Given the description of an element on the screen output the (x, y) to click on. 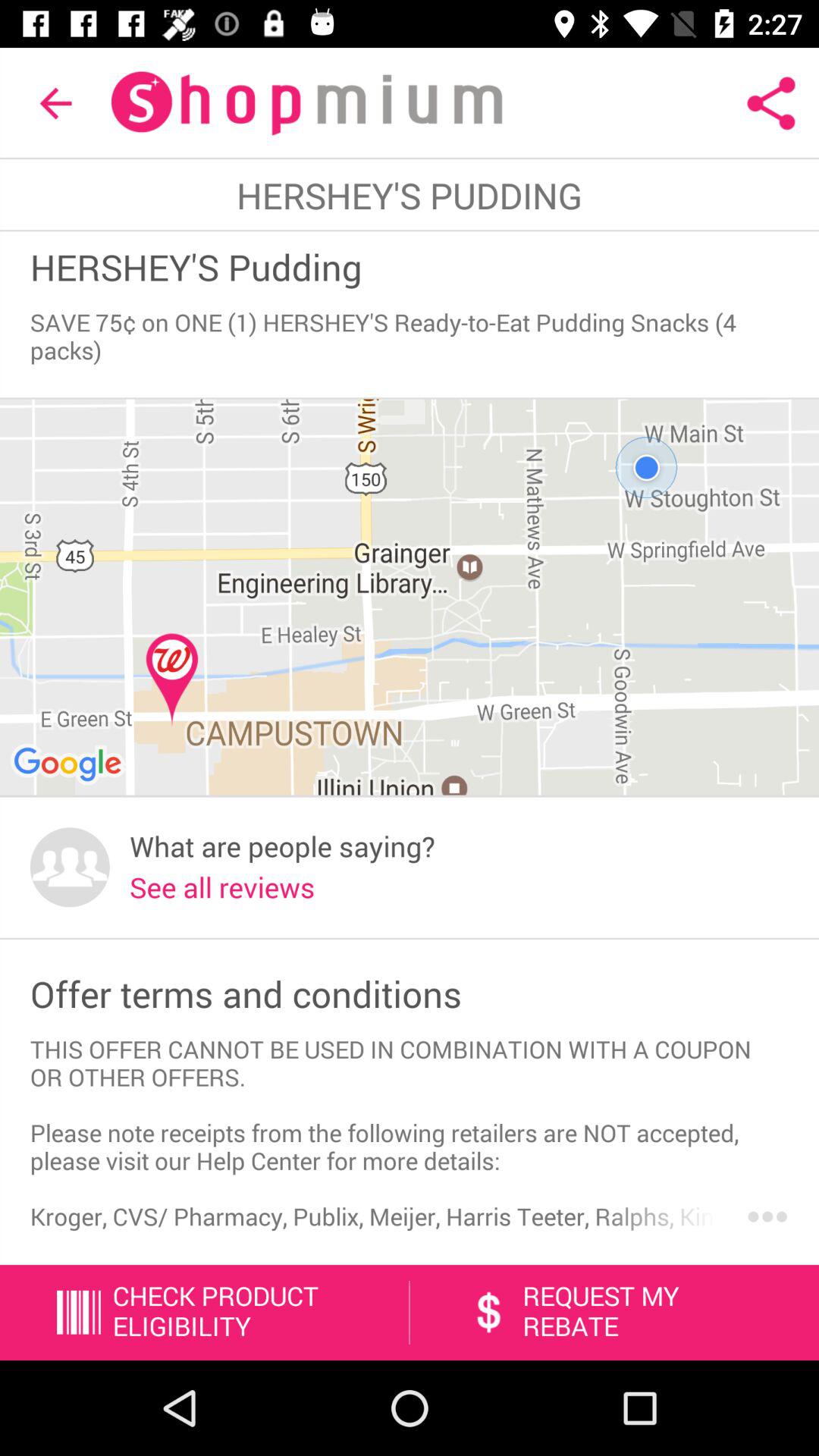
tap item above hershey's pudding (55, 103)
